Given the description of an element on the screen output the (x, y) to click on. 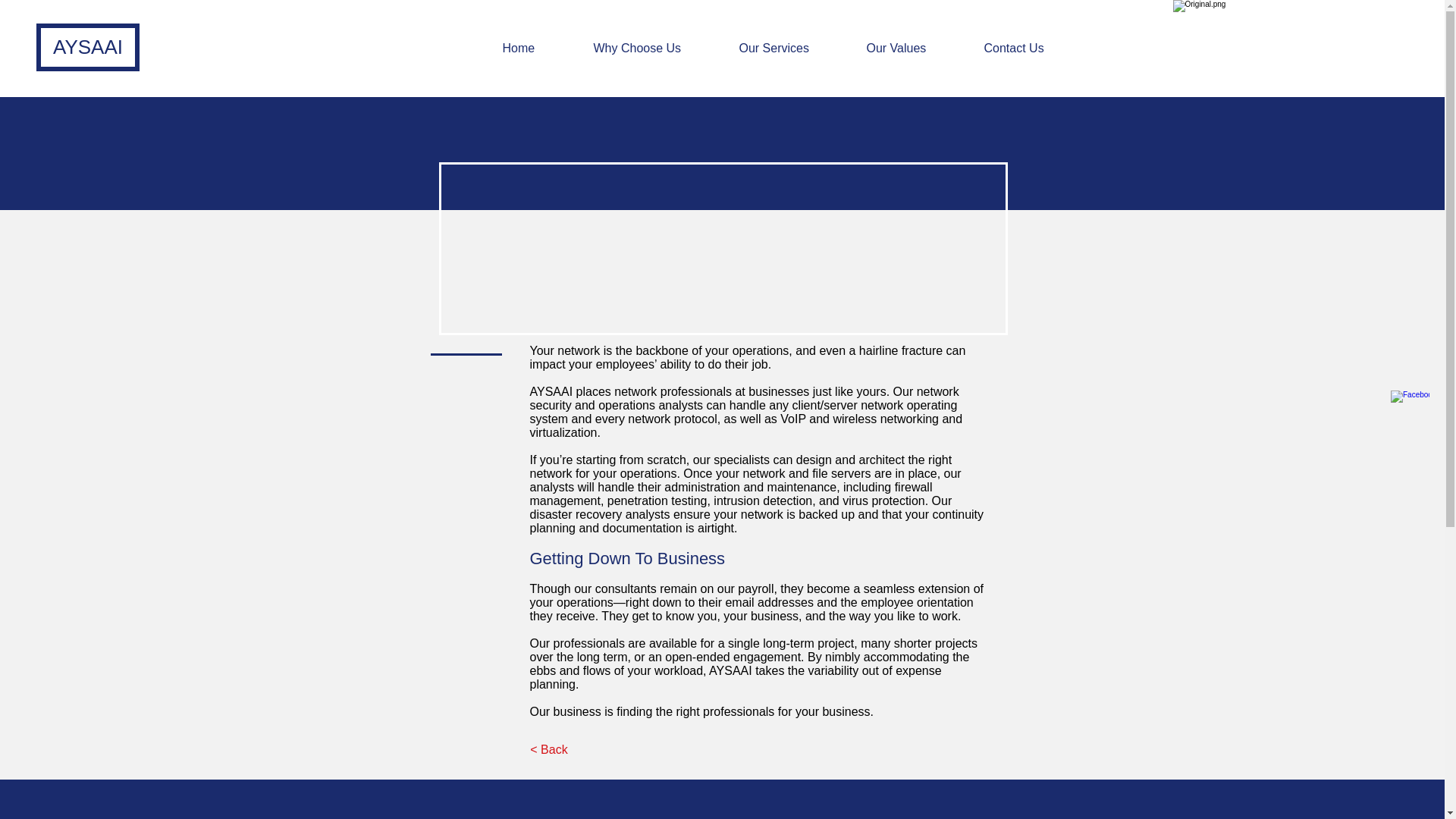
Home (537, 48)
AYSAAI (87, 47)
Contact Us (1030, 48)
Our Values (914, 48)
Why Choose Us (655, 48)
Our Services (792, 48)
